Given the description of an element on the screen output the (x, y) to click on. 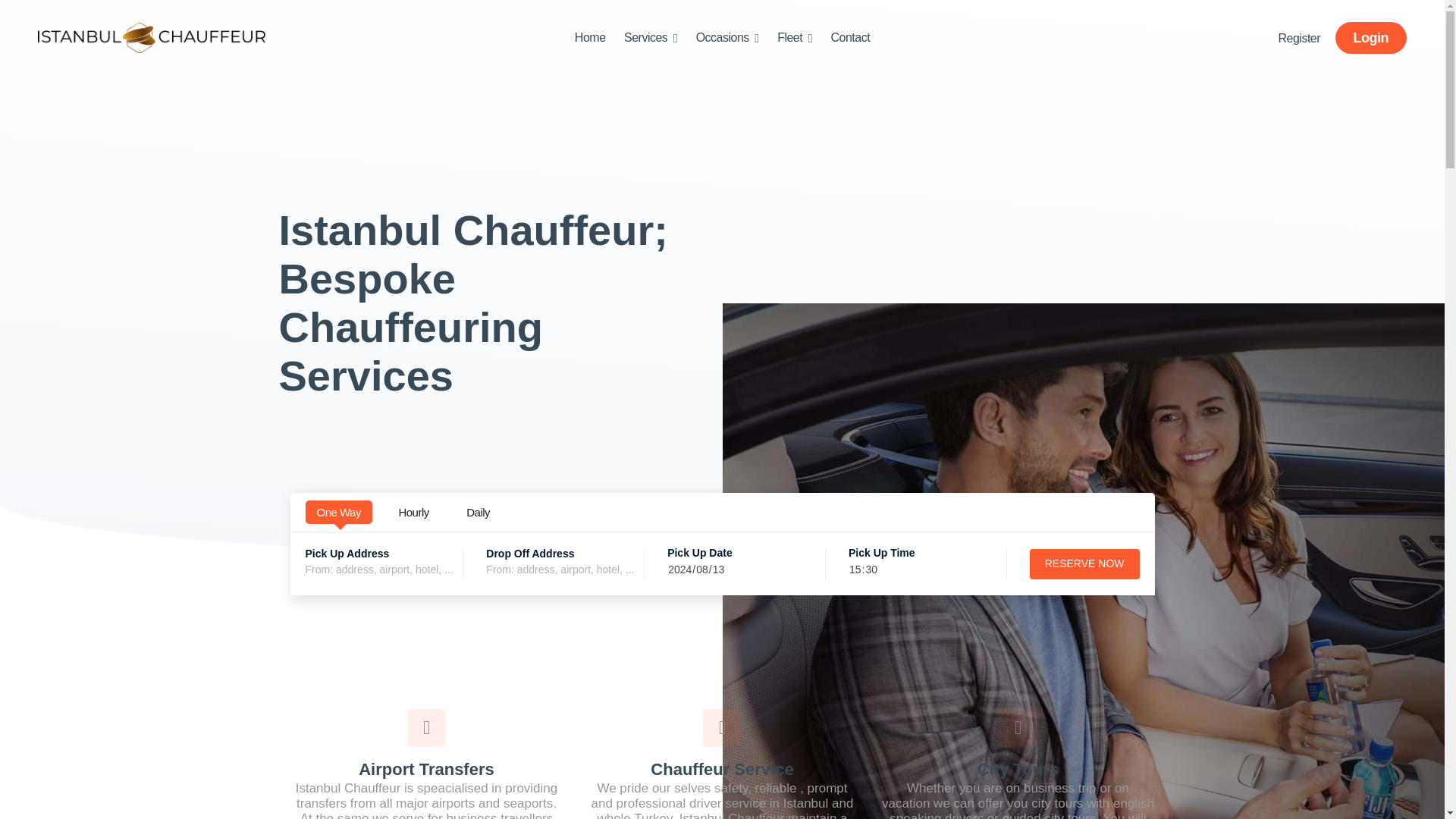
15:30 (927, 569)
Home (590, 37)
2024-08-13 (745, 569)
